Given the description of an element on the screen output the (x, y) to click on. 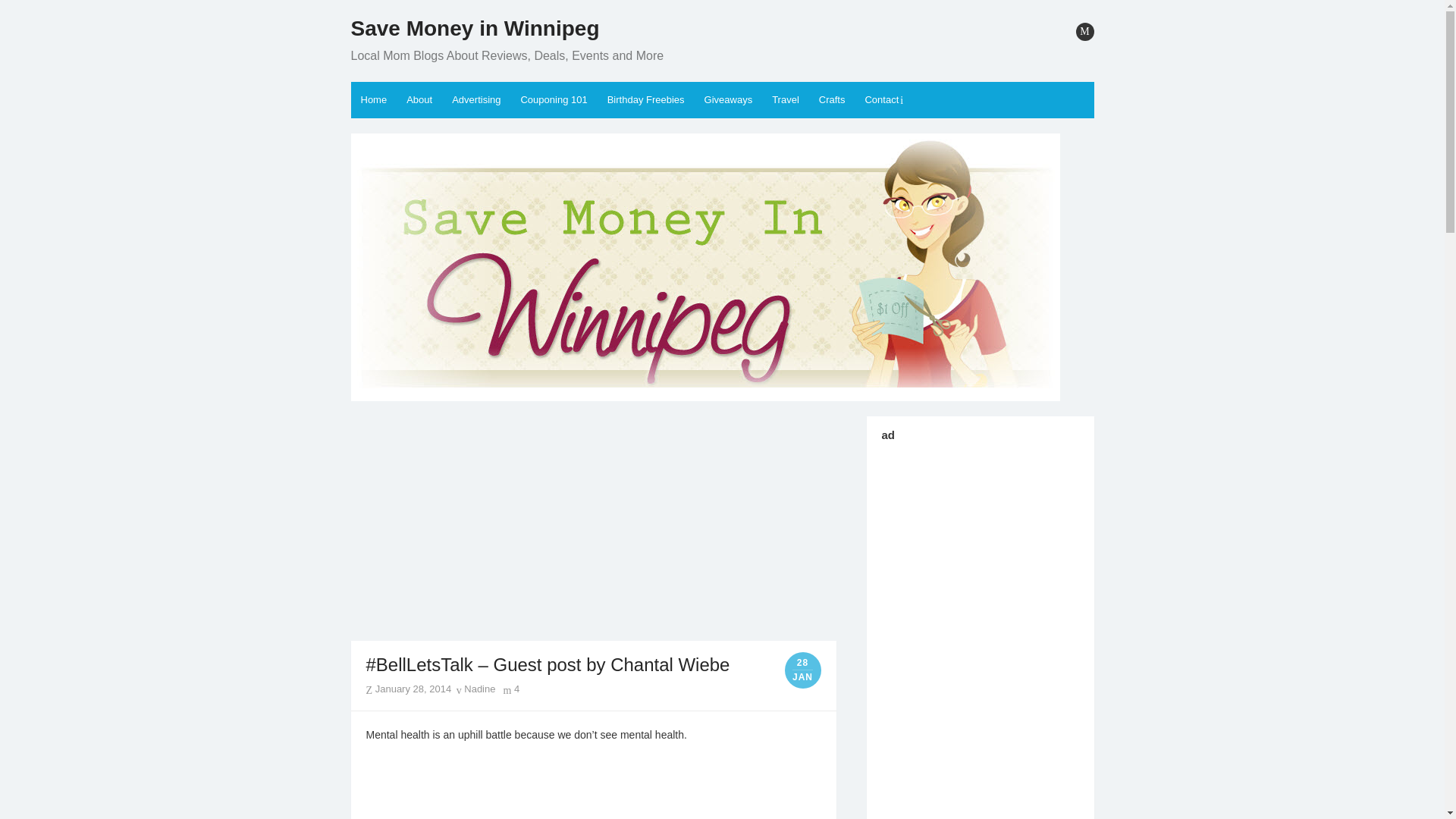
Travel (785, 99)
Save Money in Winnipeg (474, 28)
Advertising (476, 99)
Home (373, 99)
Nadine (476, 688)
4 (511, 688)
Advertisement (592, 528)
Couponing 101 (553, 99)
rss (1084, 31)
